Given the description of an element on the screen output the (x, y) to click on. 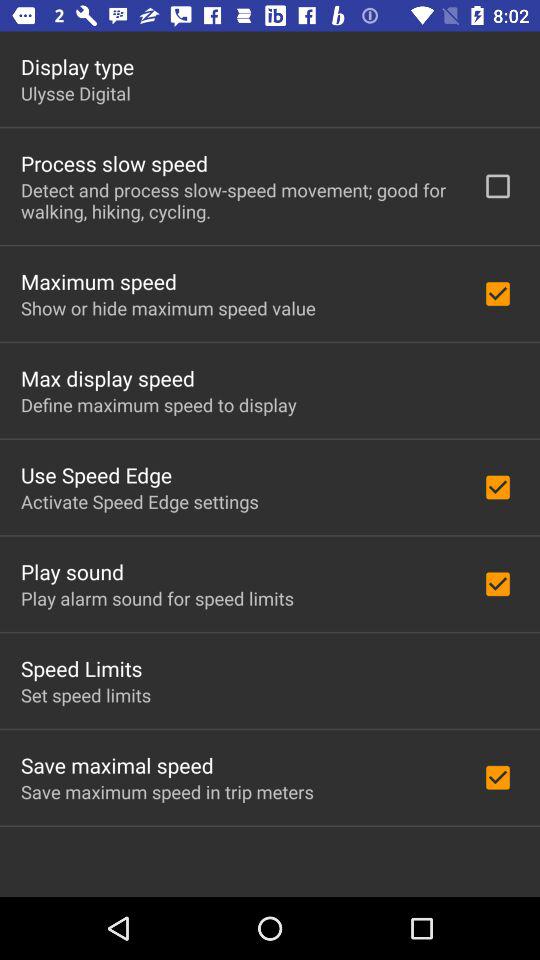
scroll until the detect and process item (238, 200)
